Given the description of an element on the screen output the (x, y) to click on. 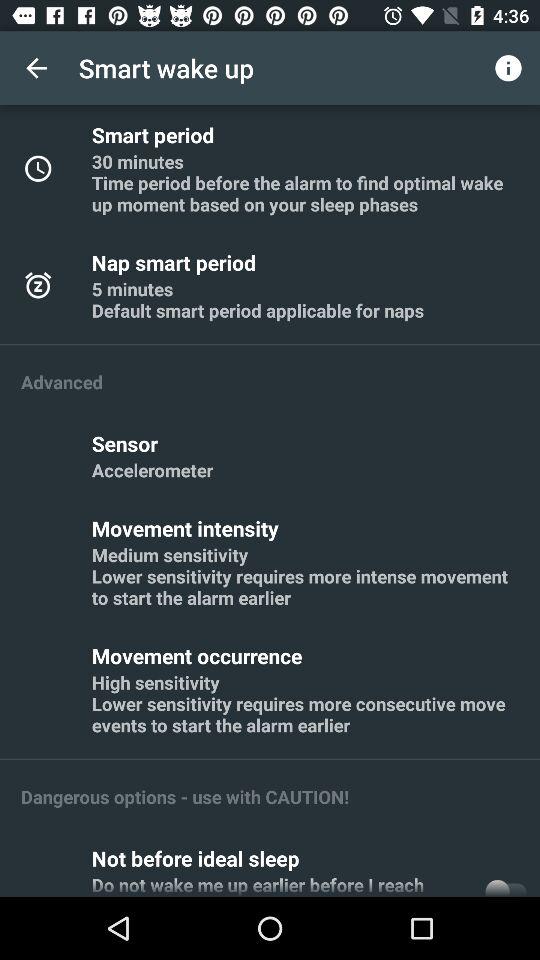
click sensor (127, 443)
